Given the description of an element on the screen output the (x, y) to click on. 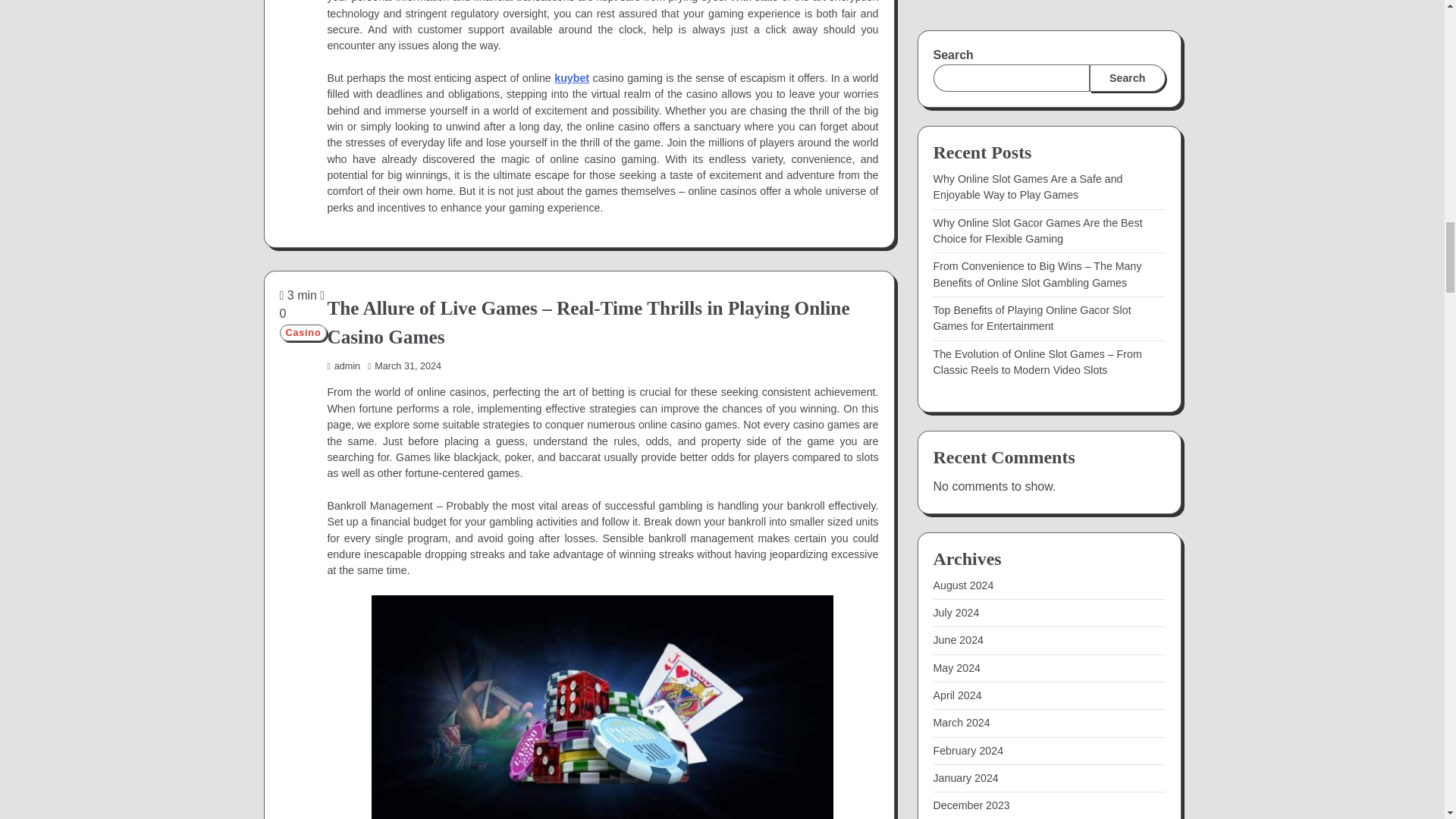
Casino (302, 332)
kuybet (571, 78)
admin (342, 366)
